Given the description of an element on the screen output the (x, y) to click on. 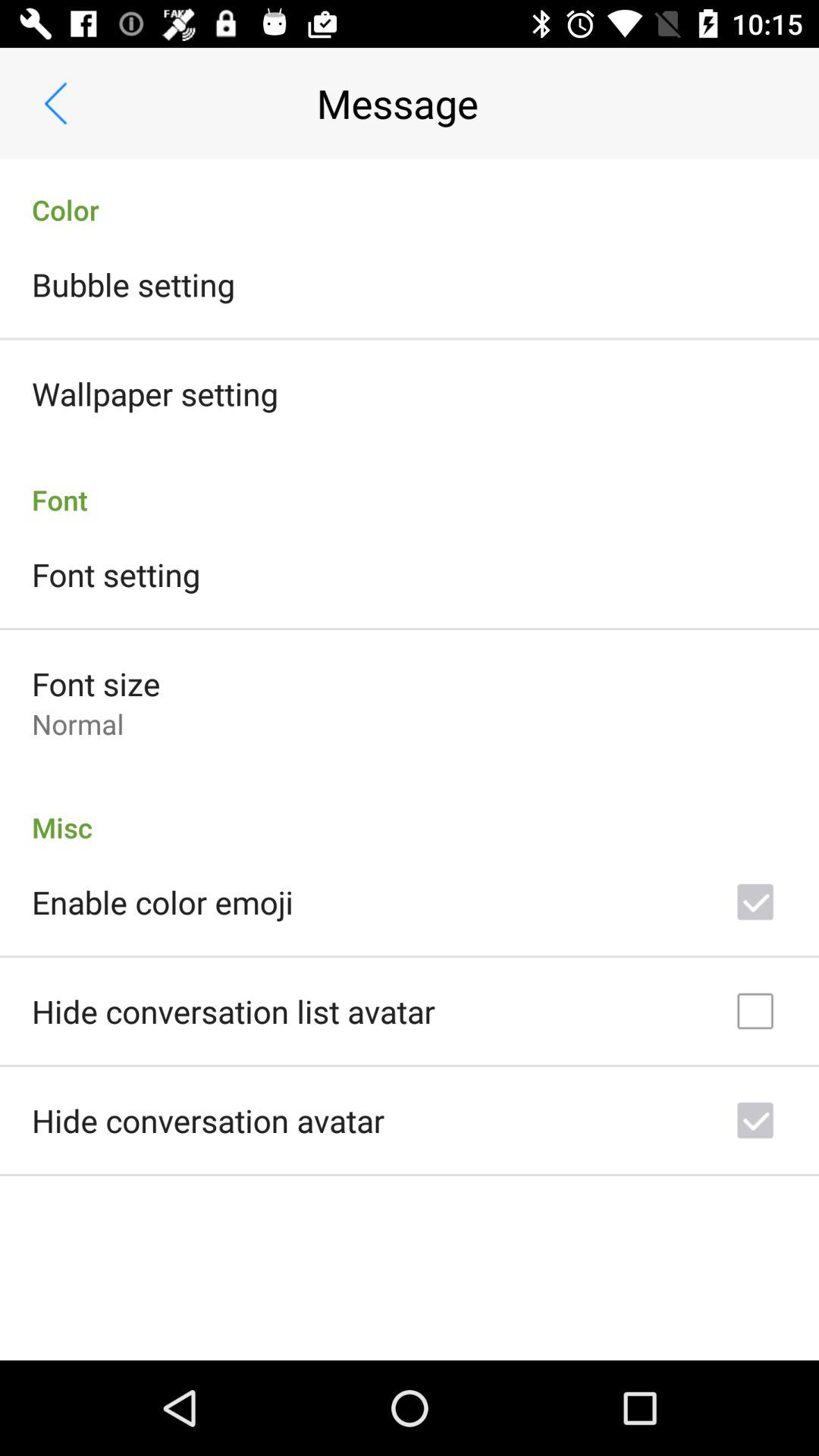
turn off icon above the wallpaper setting icon (132, 283)
